Given the description of an element on the screen output the (x, y) to click on. 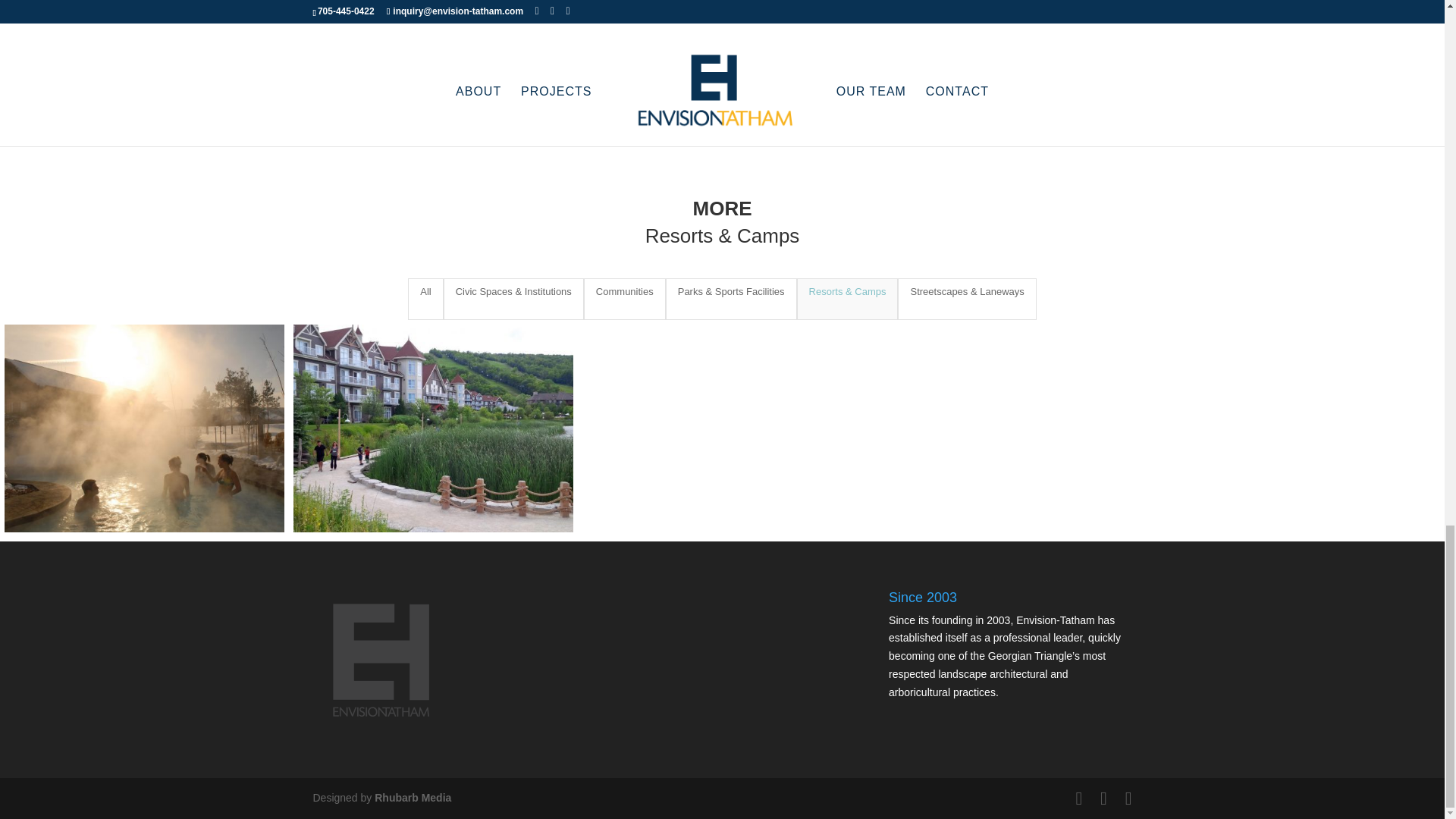
Communities (624, 299)
